Given the description of an element on the screen output the (x, y) to click on. 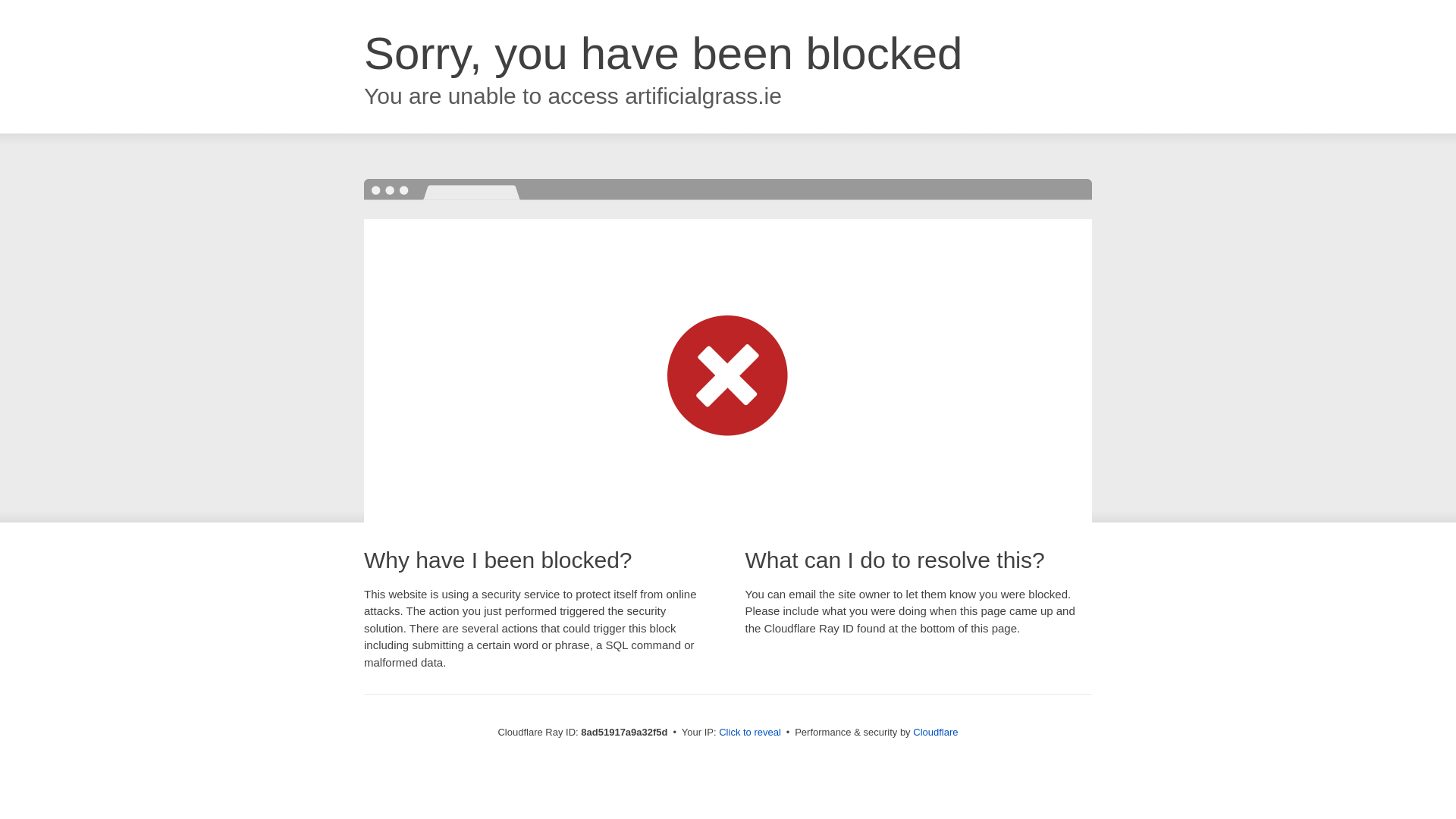
Cloudflare (935, 731)
Click to reveal (749, 732)
